Given the description of an element on the screen output the (x, y) to click on. 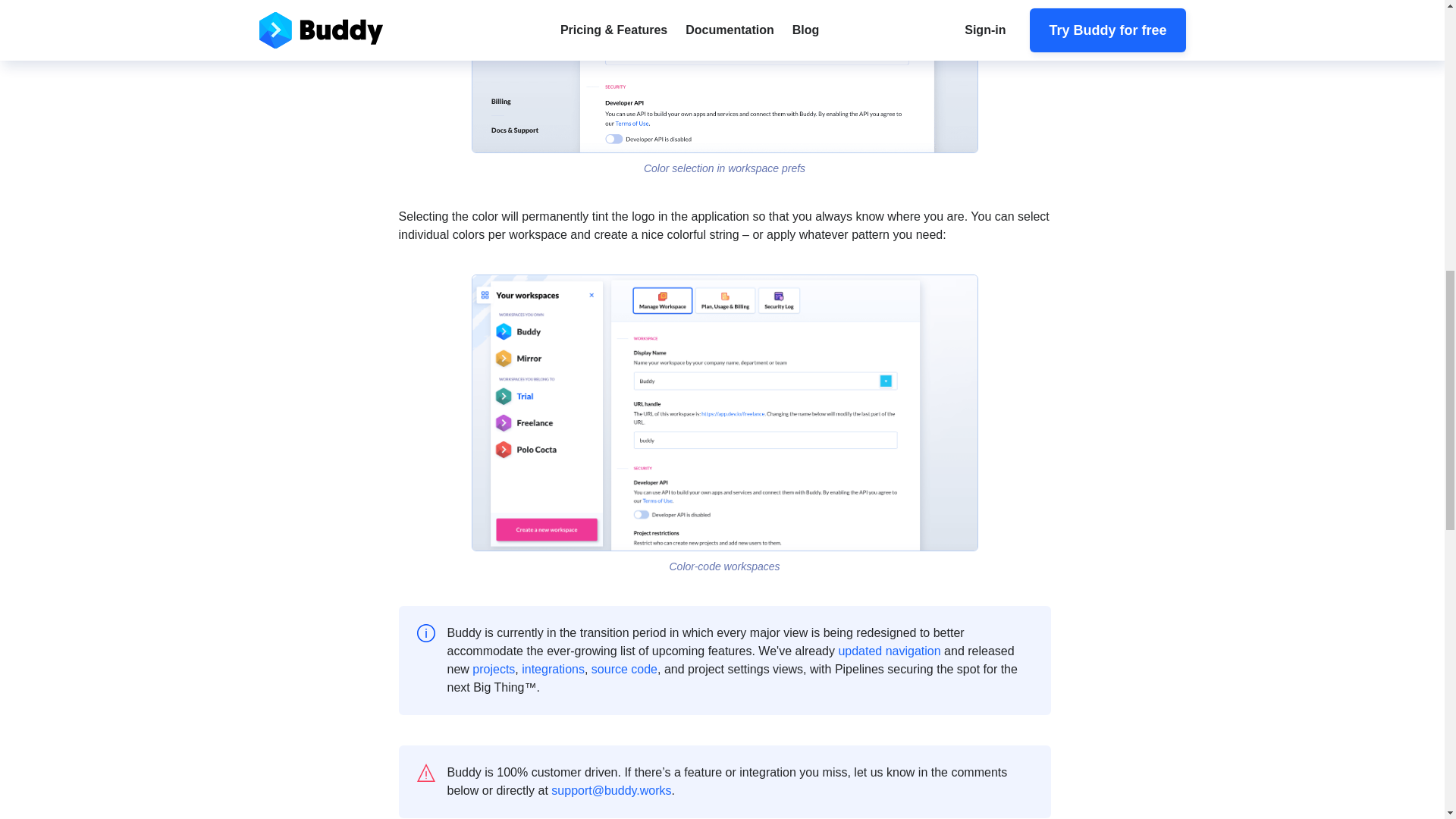
integrations (553, 668)
source code (624, 668)
updated navigation (889, 650)
projects (493, 668)
